Given the description of an element on the screen output the (x, y) to click on. 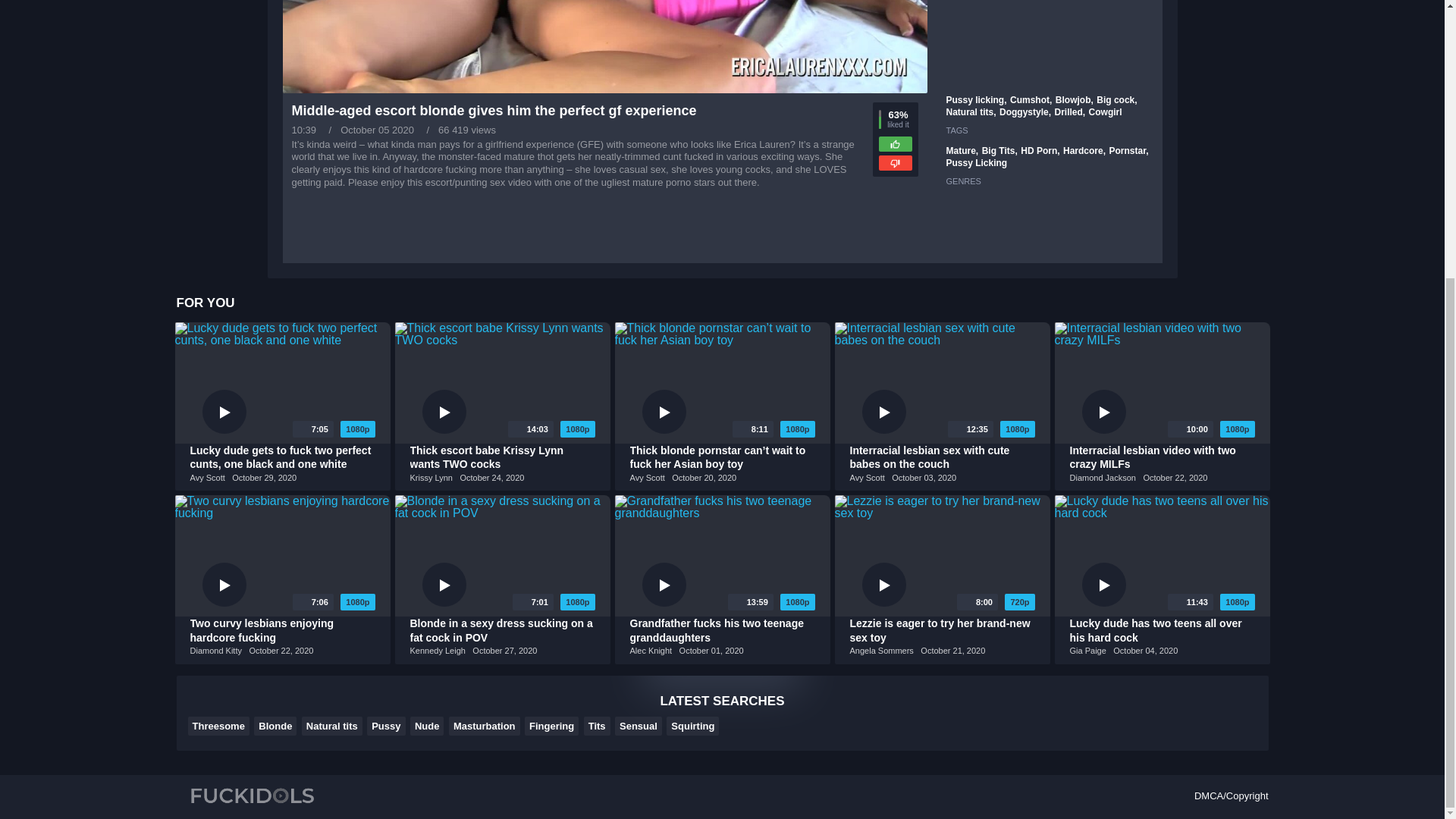
Hardcore (1083, 150)
Pornstar (1128, 150)
Pussy licking (976, 99)
Pussy Licking (976, 162)
Mature (962, 150)
Doggystyle (1024, 112)
Cowgirl (1105, 112)
Drilled (1069, 112)
Cumshot (1030, 99)
Big Tits (999, 150)
Avy Scott (206, 477)
Blowjob (1074, 99)
Natural tits (970, 112)
HD Porn (1039, 150)
